Given the description of an element on the screen output the (x, y) to click on. 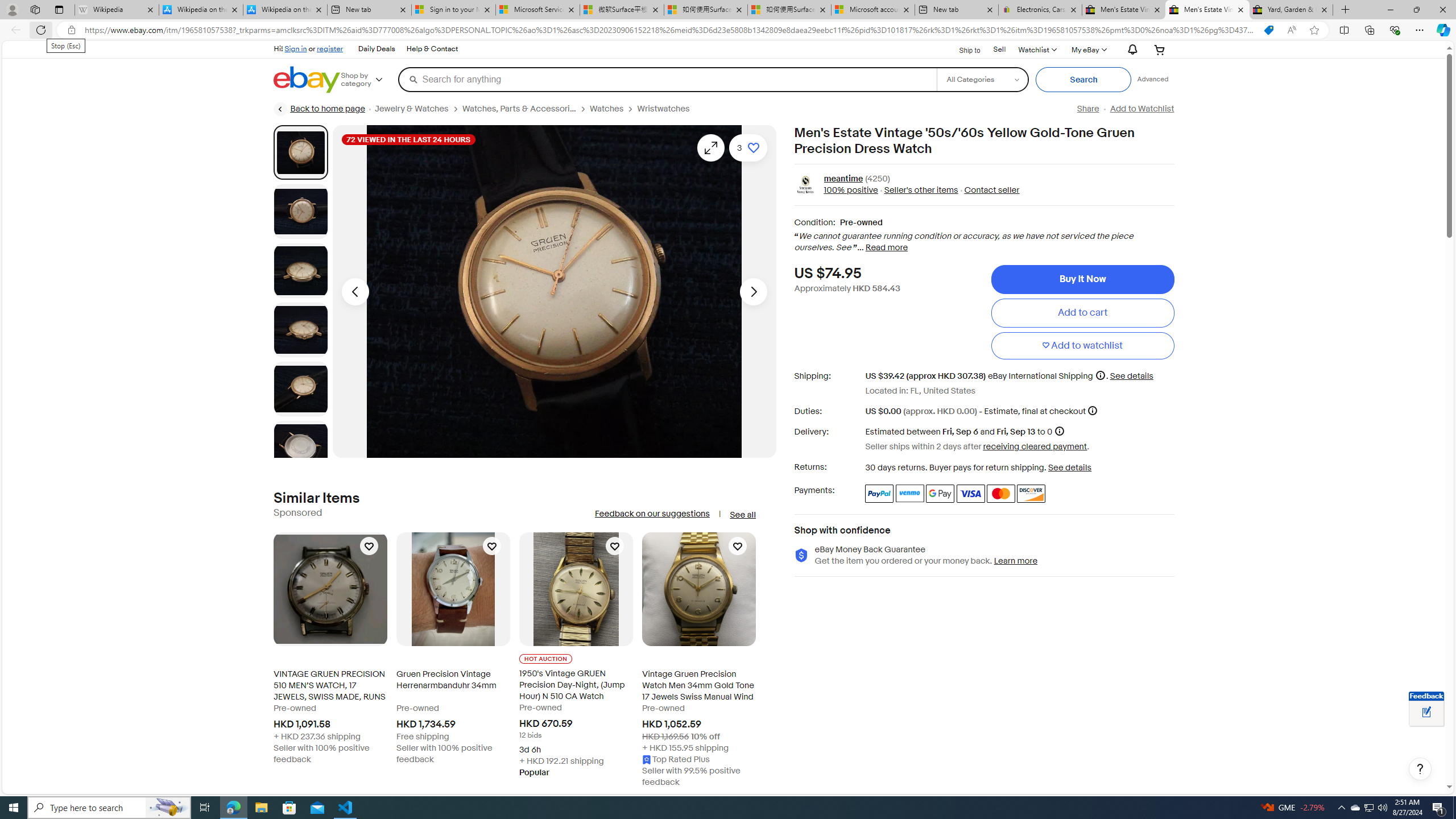
eBay Home (306, 79)
Picture 5 of 8 (300, 388)
Help & Contact (431, 49)
Jewelry & Watches (418, 108)
Seller's other items (920, 190)
Sell (999, 49)
Expand Cart (1159, 49)
Master Card (999, 493)
Wikipedia - Sleeping (116, 9)
Google Pay (940, 493)
Add to watchlist (1082, 345)
Wristwatches (663, 108)
WatchlistExpand Watch List (1036, 49)
